Given the description of an element on the screen output the (x, y) to click on. 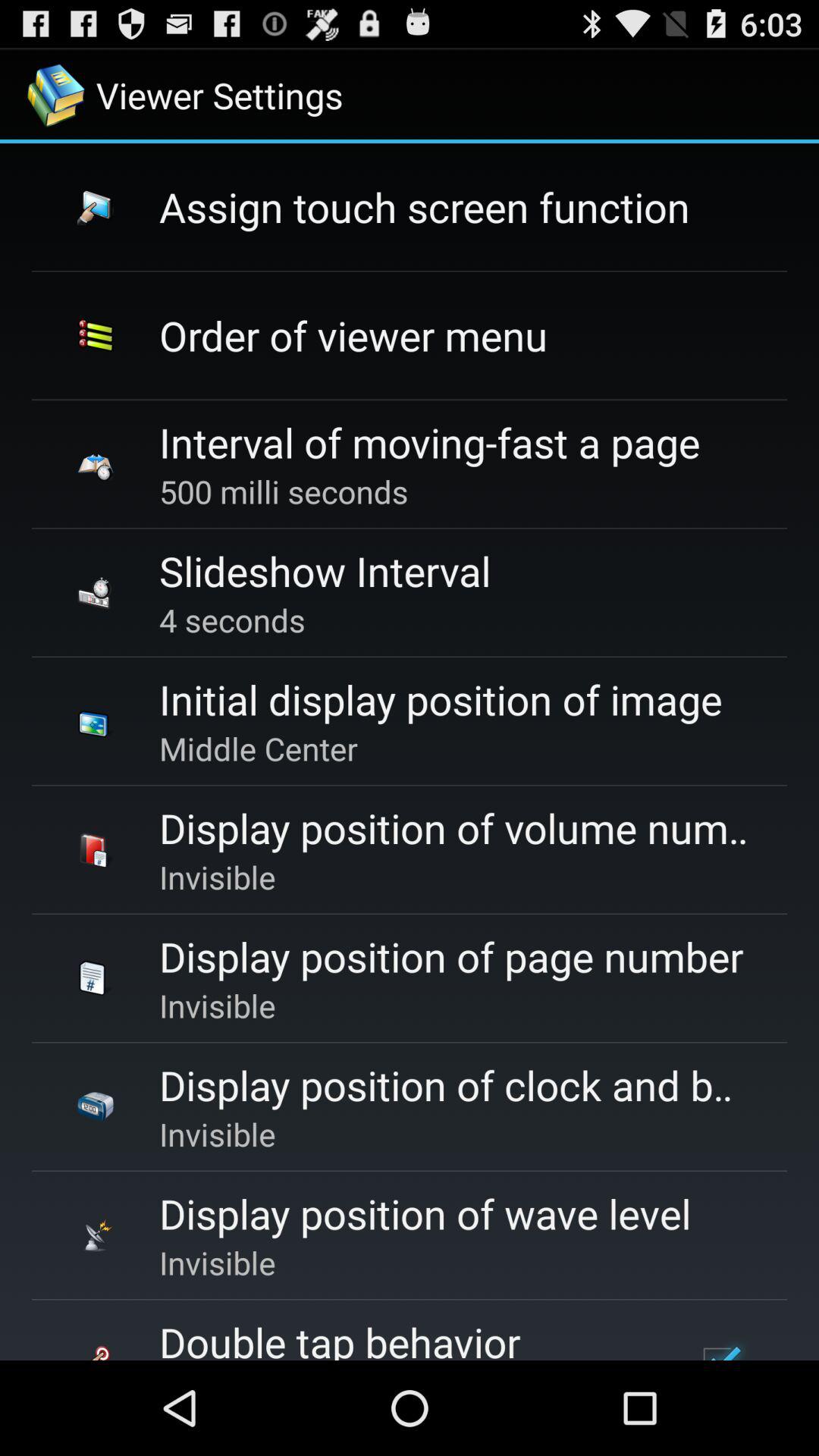
press item below the viewer settings item (424, 206)
